Given the description of an element on the screen output the (x, y) to click on. 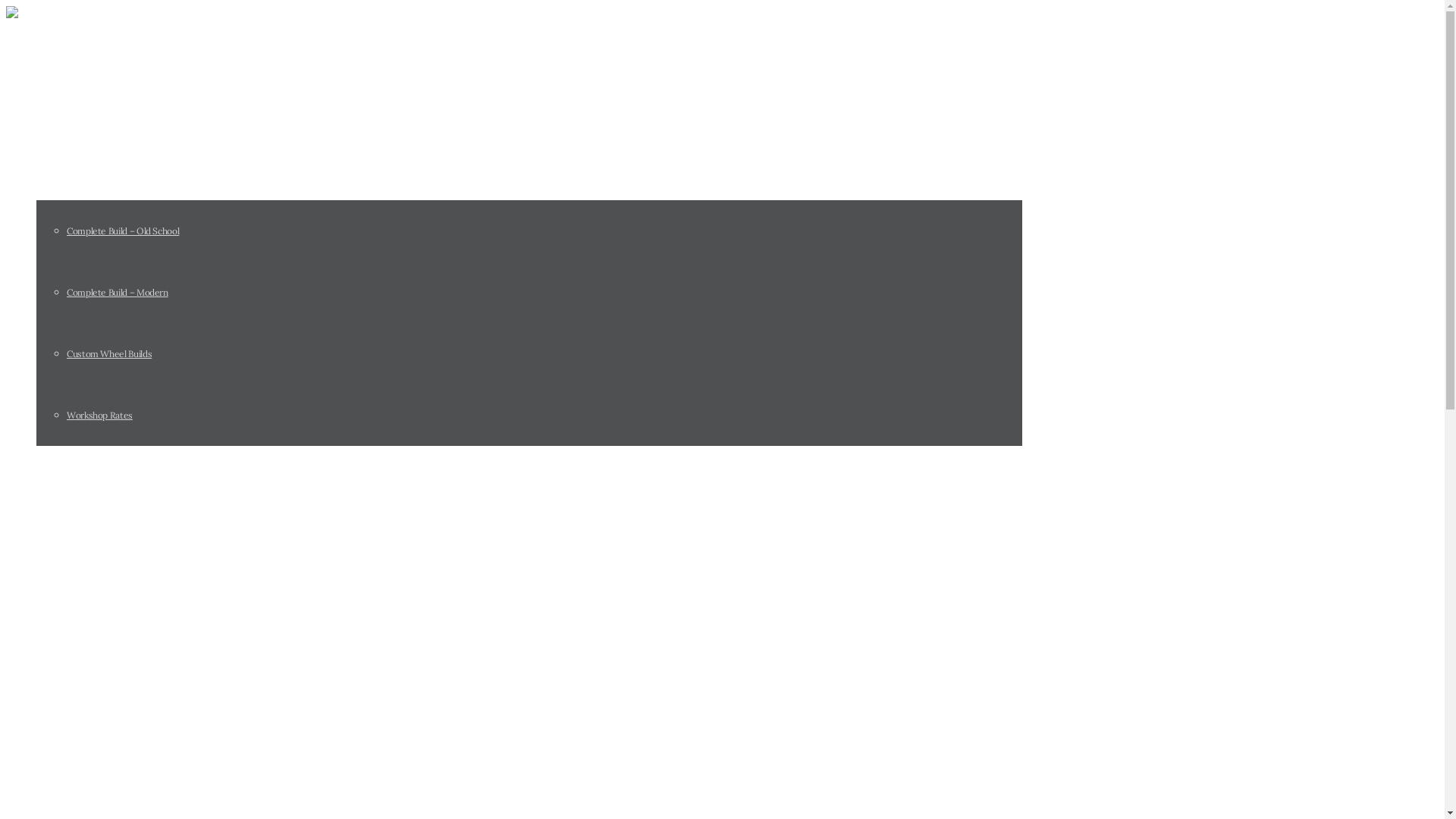
Home Element type: text (52, 741)
Shop Element type: text (50, 475)
Workshop Rates Element type: text (99, 414)
Custom Wheel Builds Element type: text (108, 353)
Contact Element type: text (57, 537)
Home Element type: text (52, 107)
Services Element type: text (59, 802)
Services Element type: text (59, 168)
0 Element type: text (9, 670)
